Given the description of an element on the screen output the (x, y) to click on. 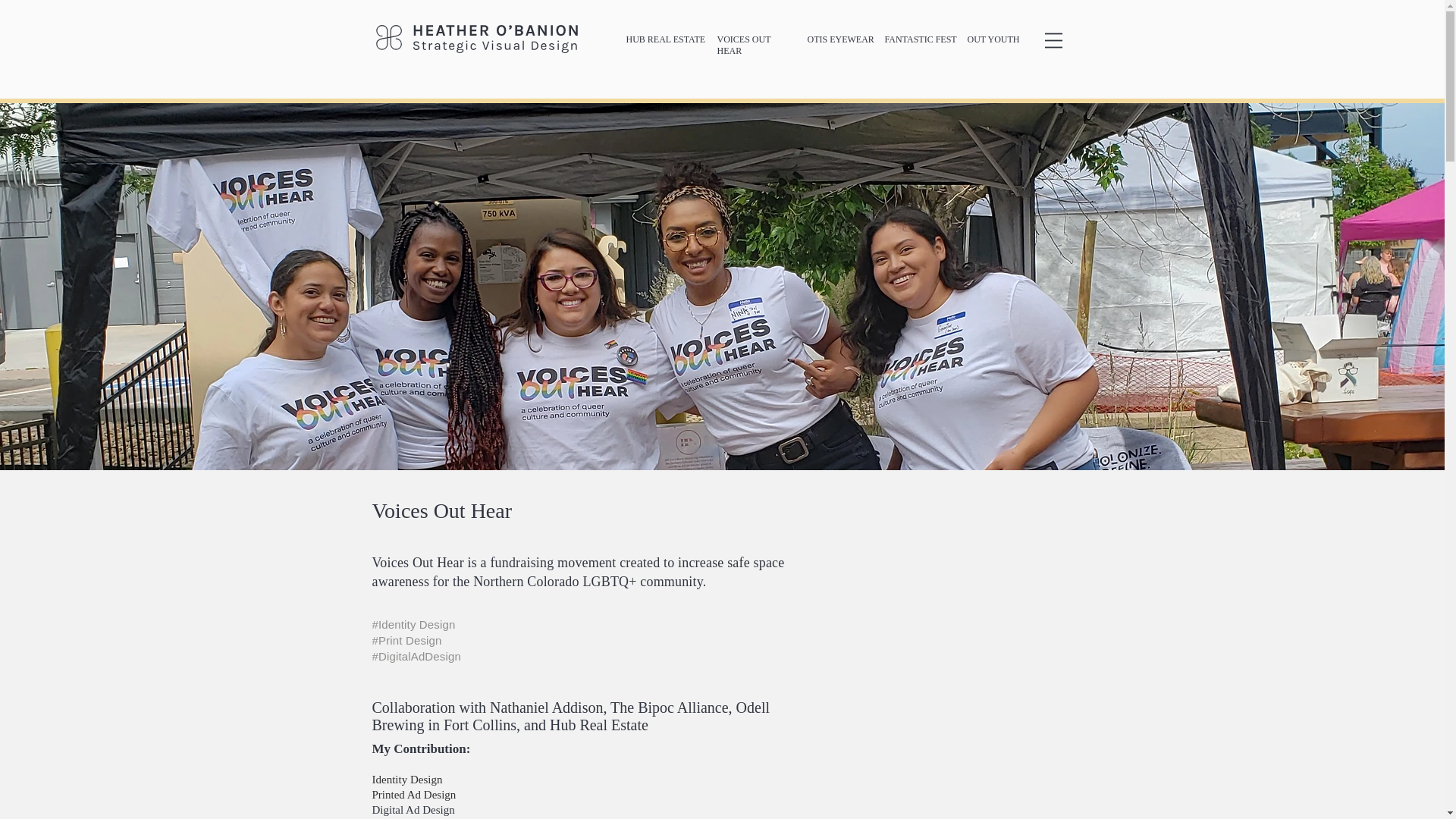
HUB REAL ESTATE (666, 39)
OTIS EYEWEAR (839, 39)
OUT YOUTH (994, 39)
VOICES OUT HEAR (744, 45)
FANTASTIC FEST (919, 39)
